Given the description of an element on the screen output the (x, y) to click on. 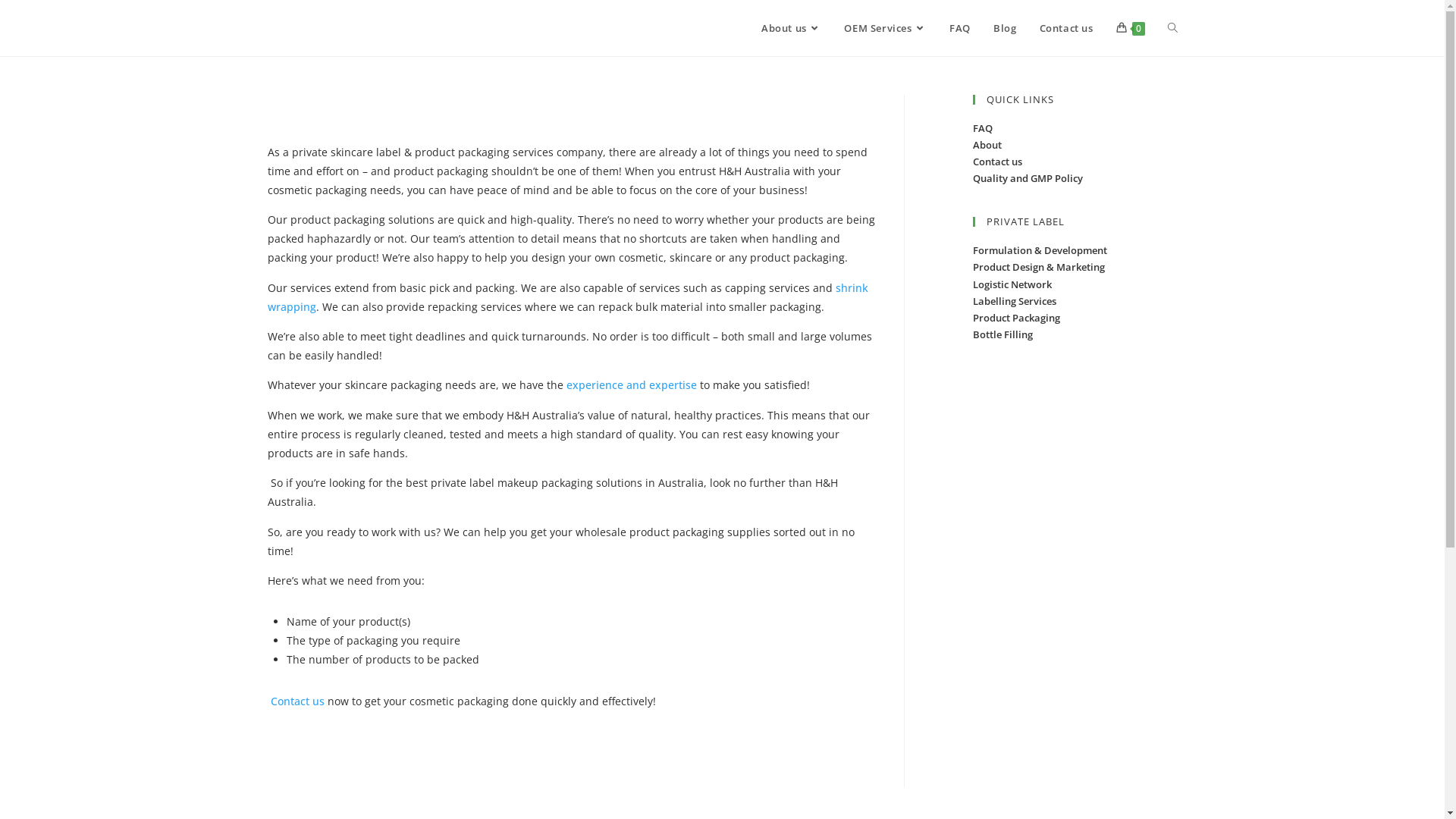
Contact us Element type: text (296, 704)
experience and expertise Element type: text (630, 388)
Contact us Element type: text (1066, 28)
FAQ Element type: text (960, 28)
Formulation & Development Element type: text (1039, 250)
0 Element type: text (1129, 28)
Labelling Services Element type: text (1013, 300)
About Element type: text (986, 144)
Contact us Element type: text (996, 161)
Product Packaging Element type: text (1015, 317)
Product Design & Marketing Element type: text (1038, 266)
Logistic Network Element type: text (1011, 284)
Bottle Filling Element type: text (1002, 334)
FAQ Element type: text (981, 127)
OEM Services Element type: text (885, 28)
Quality and GMP Policy Element type: text (1027, 178)
About us Element type: text (790, 28)
Blog Element type: text (1004, 28)
shrink wrapping Element type: text (566, 300)
